Given the description of an element on the screen output the (x, y) to click on. 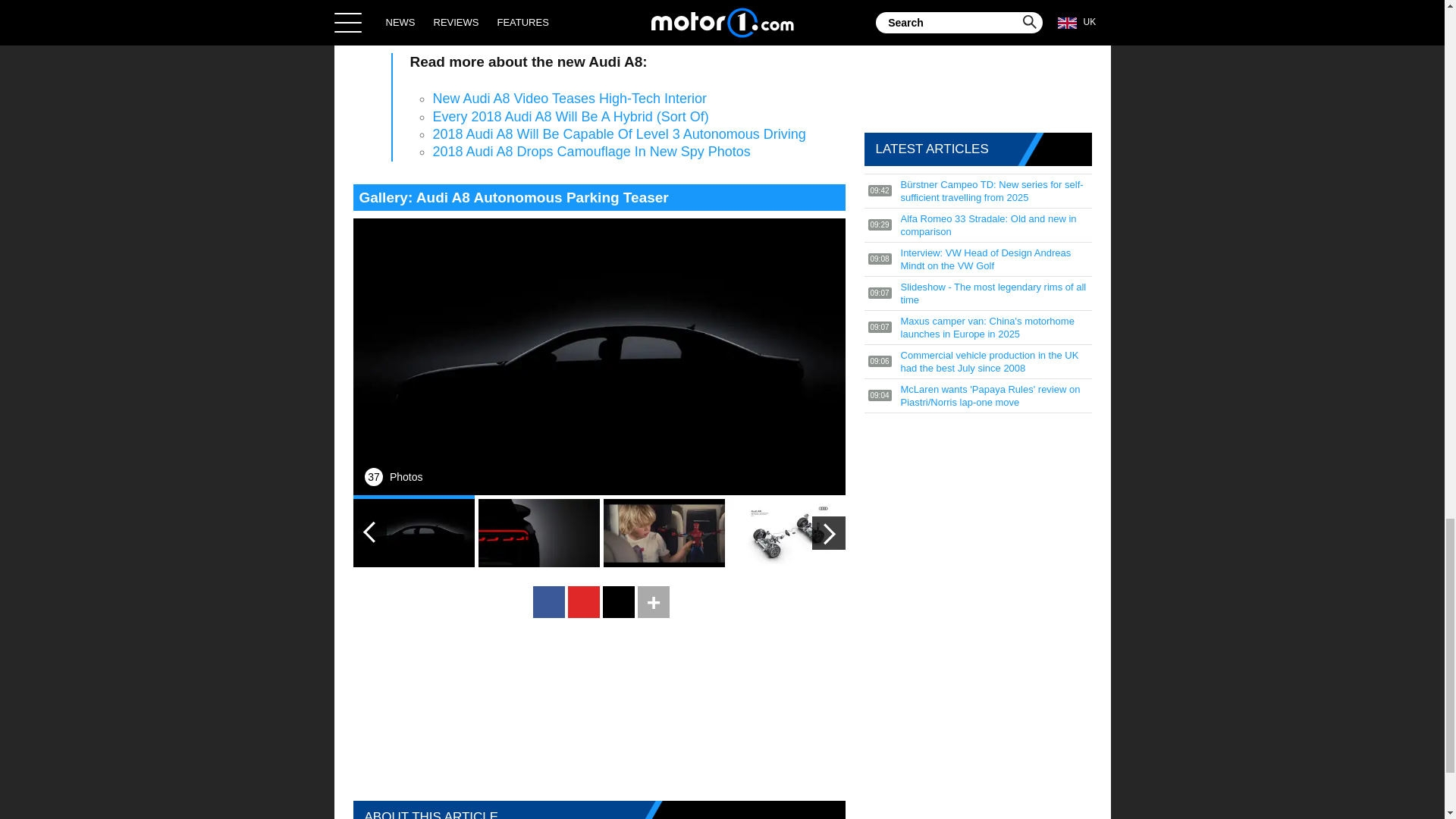
2018 Audi A8 Drops Camouflage In New Spy Photos (590, 151)
2018 Audi A8 Will Be Capable Of Level 3 Autonomous Driving (618, 133)
New Audi A8 Video Teases High-Tech Interior (569, 98)
